Given the description of an element on the screen output the (x, y) to click on. 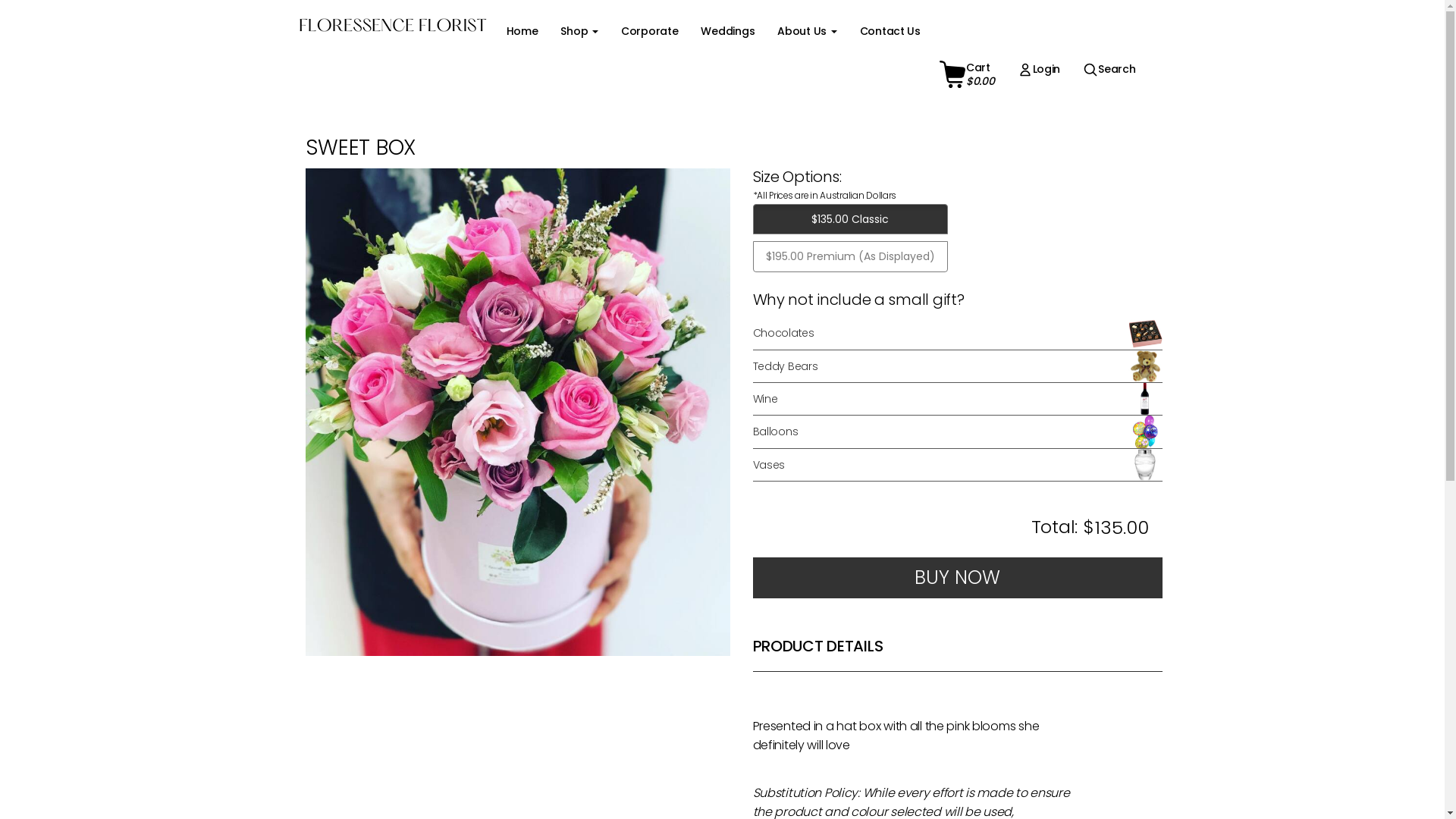
BUY NOW Element type: text (956, 577)
Balloons Element type: text (956, 431)
Wine Element type: text (956, 398)
Weddings Element type: text (727, 31)
Sweet Box Element type: hover (516, 411)
$135.00 Classic Element type: text (849, 219)
Teddy Bears Element type: text (956, 365)
Home Element type: text (521, 31)
Corporate Element type: text (649, 31)
Contact Us Element type: text (889, 31)
Login Element type: text (1039, 68)
Search Element type: text (1108, 68)
$195.00 Premium (As Displayed) Element type: text (849, 256)
Vases Element type: text (956, 464)
About Us Element type: text (806, 31)
Chocolates Element type: text (956, 332)
Shop Element type: text (579, 31)
